Given the description of an element on the screen output the (x, y) to click on. 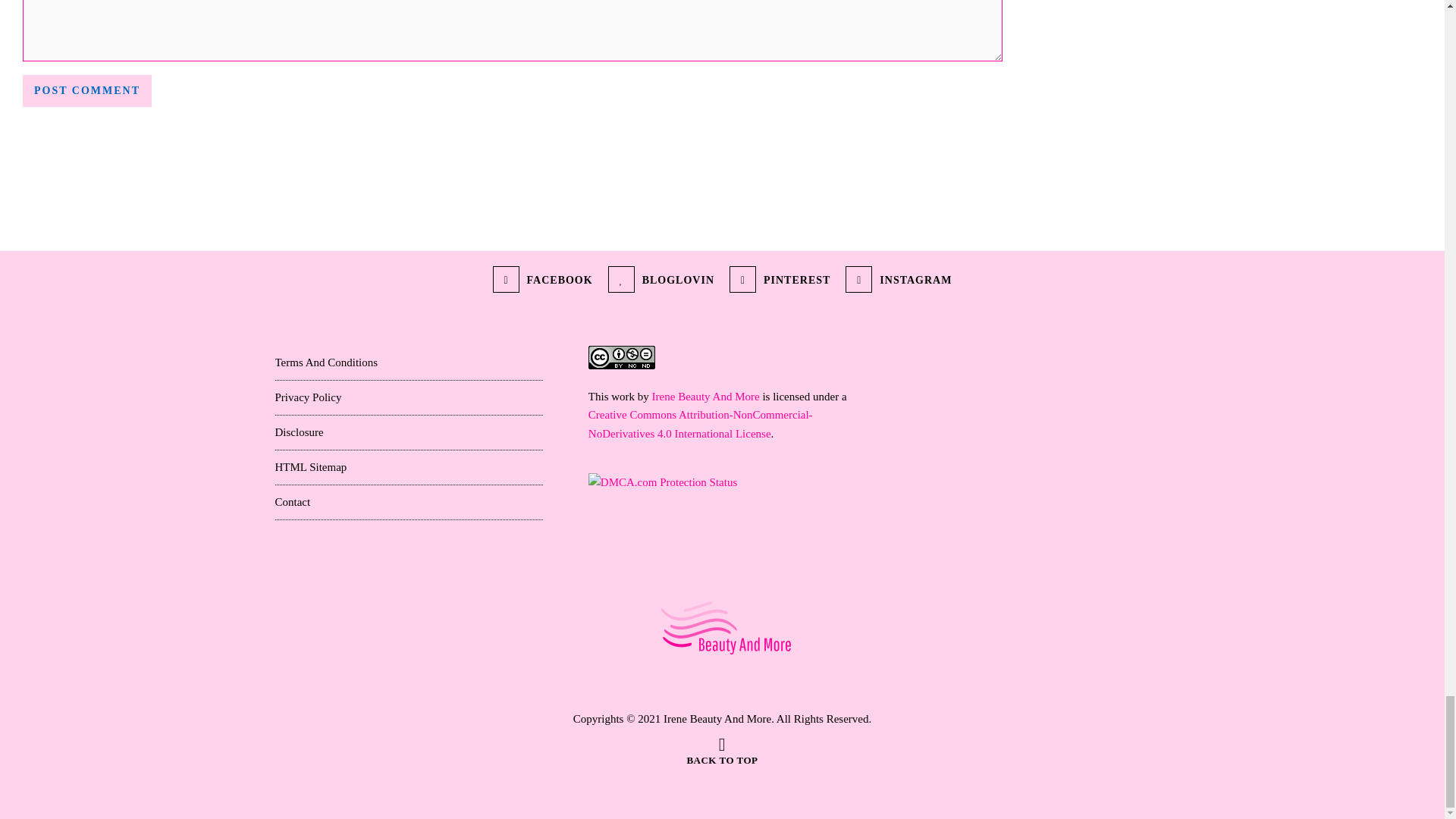
BACK TO TOP (721, 753)
Post Comment (87, 91)
